Given the description of an element on the screen output the (x, y) to click on. 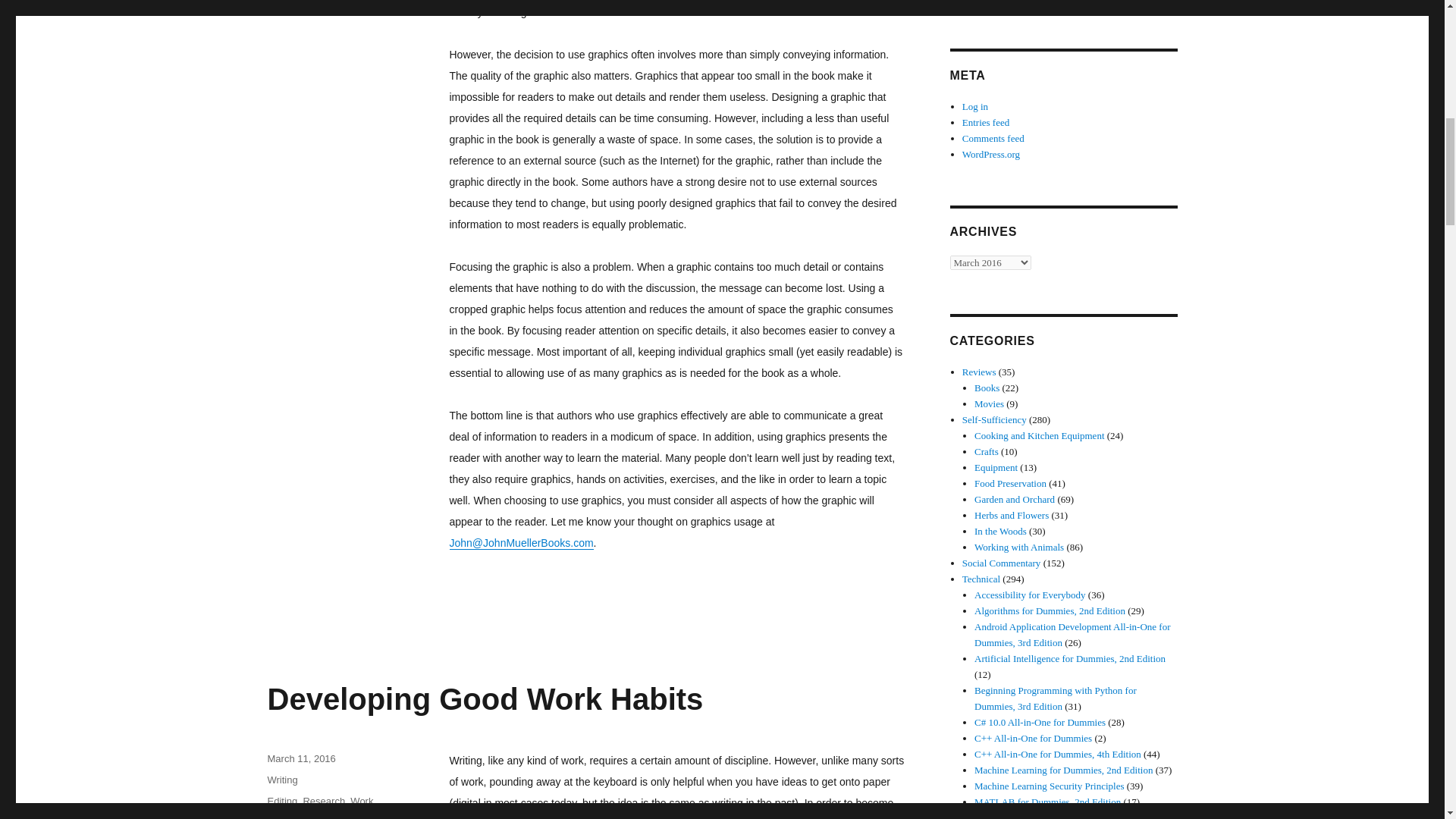
Working Hours (330, 815)
Writing (383, 815)
Editing (281, 800)
Research (323, 800)
Contact me about my book. (520, 542)
Developing Good Work Habits (484, 698)
March 11, 2016 (300, 758)
Writing (281, 779)
Work Week (319, 807)
